Given the description of an element on the screen output the (x, y) to click on. 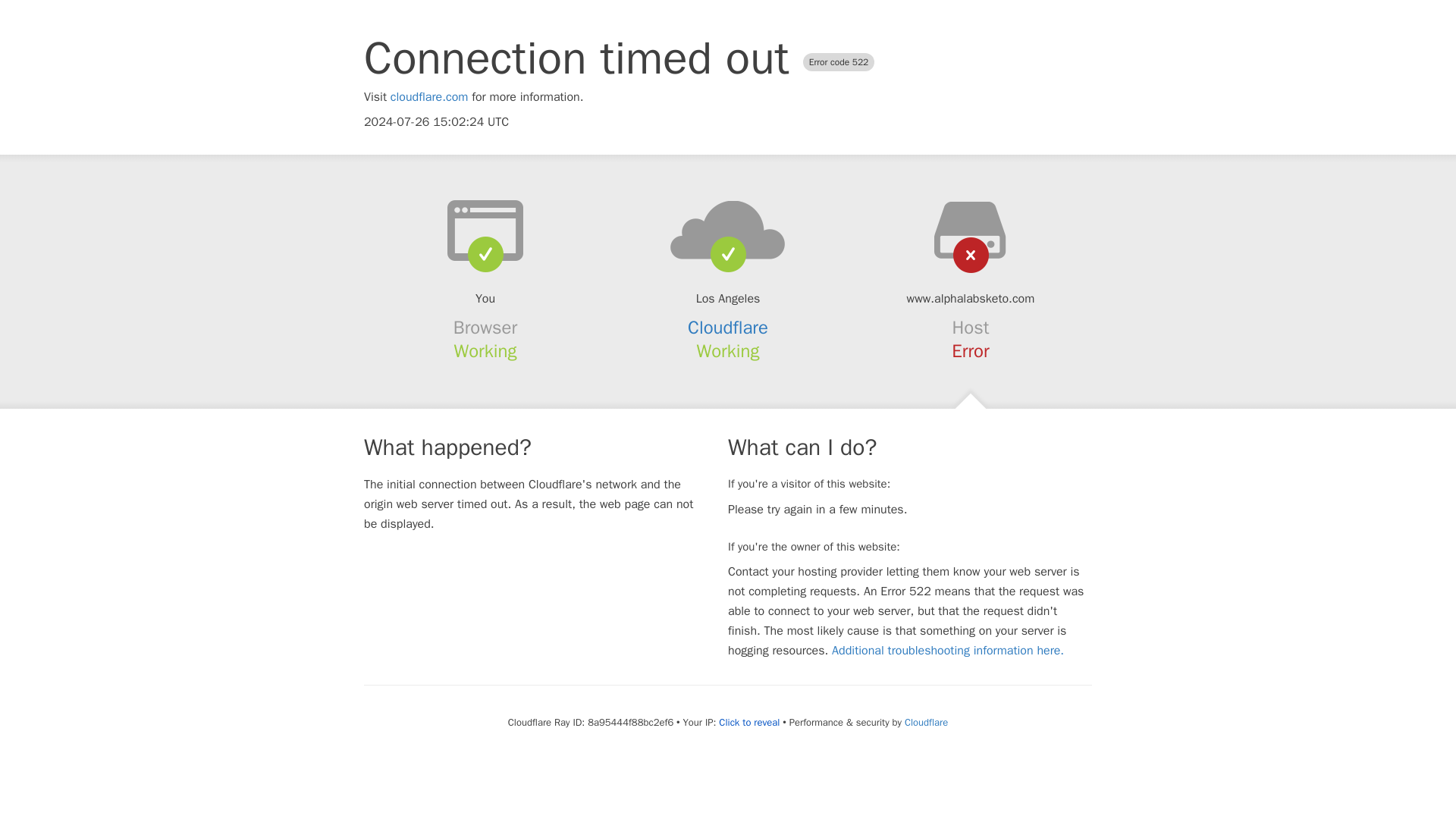
Additional troubleshooting information here. (947, 650)
Click to reveal (748, 722)
Cloudflare (727, 327)
cloudflare.com (429, 96)
Cloudflare (925, 721)
